Given the description of an element on the screen output the (x, y) to click on. 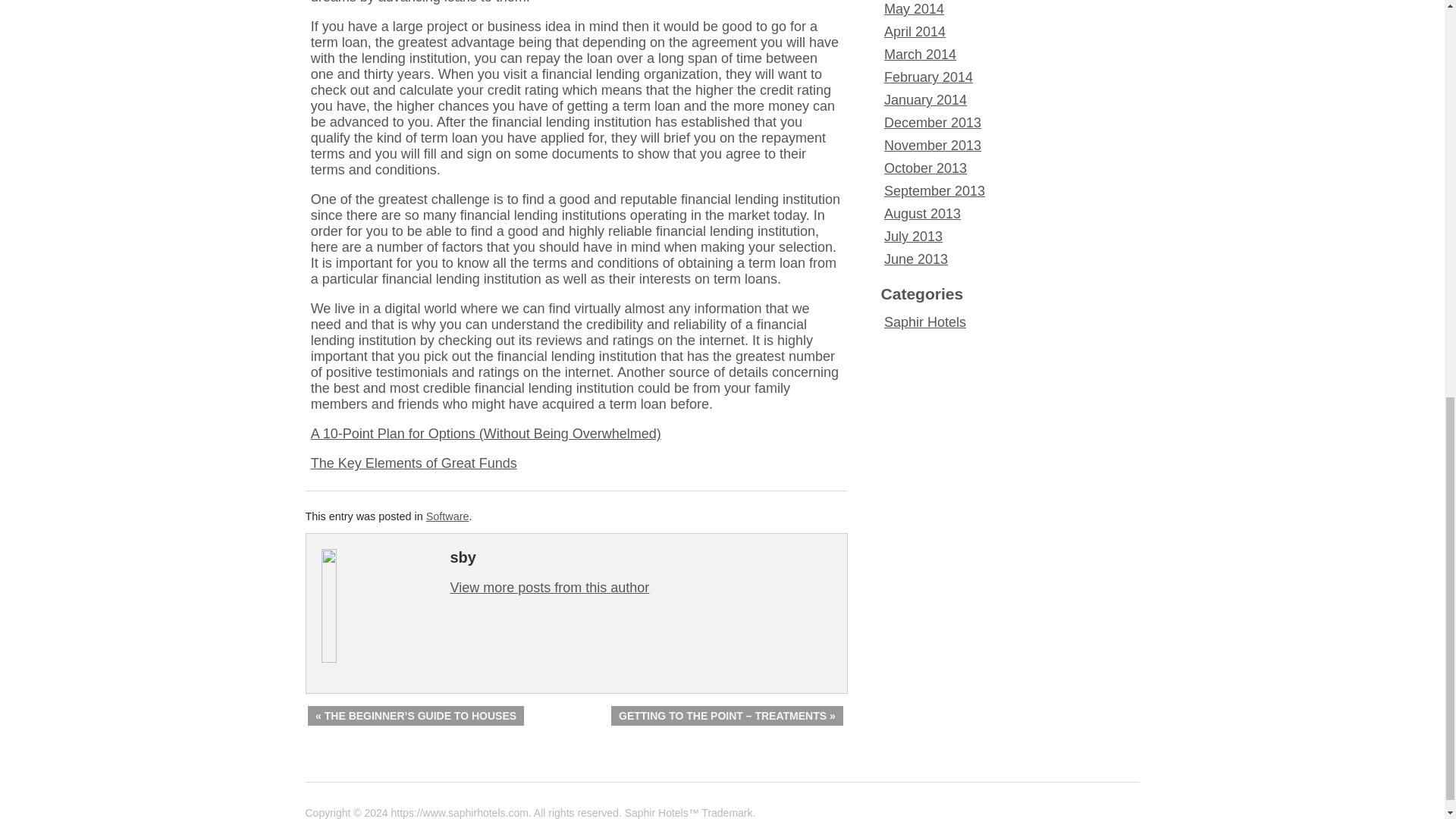
The Key Elements of Great Funds (413, 462)
View more posts from this author (549, 587)
Software (447, 516)
